Given the description of an element on the screen output the (x, y) to click on. 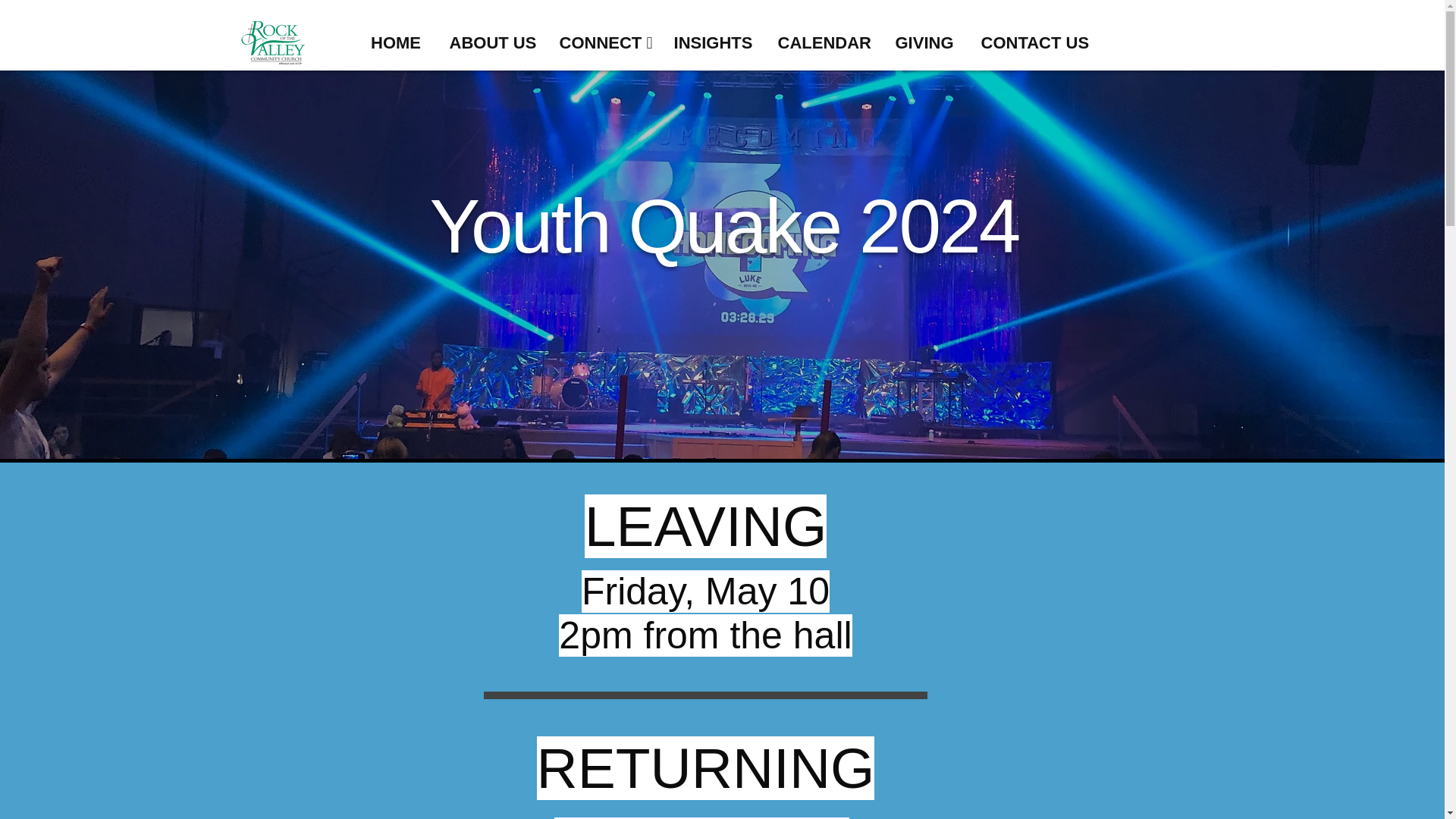
CONTACT US (1031, 42)
INSIGHTS (712, 42)
HOME (396, 42)
CALENDAR (822, 42)
GIVING (924, 42)
ABOUT US (491, 42)
